Given the description of an element on the screen output the (x, y) to click on. 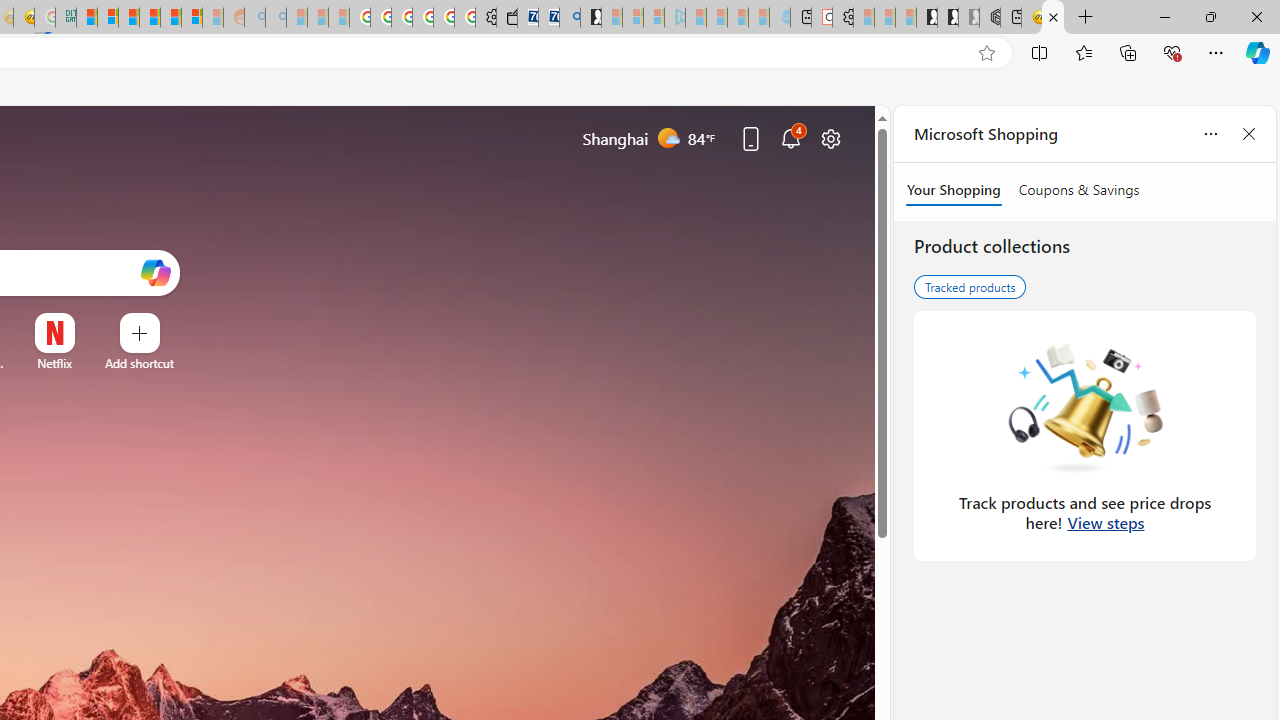
Wallet (506, 17)
Page settings (831, 138)
Bing Real Estate - Home sales and rental listings (569, 17)
